Given the description of an element on the screen output the (x, y) to click on. 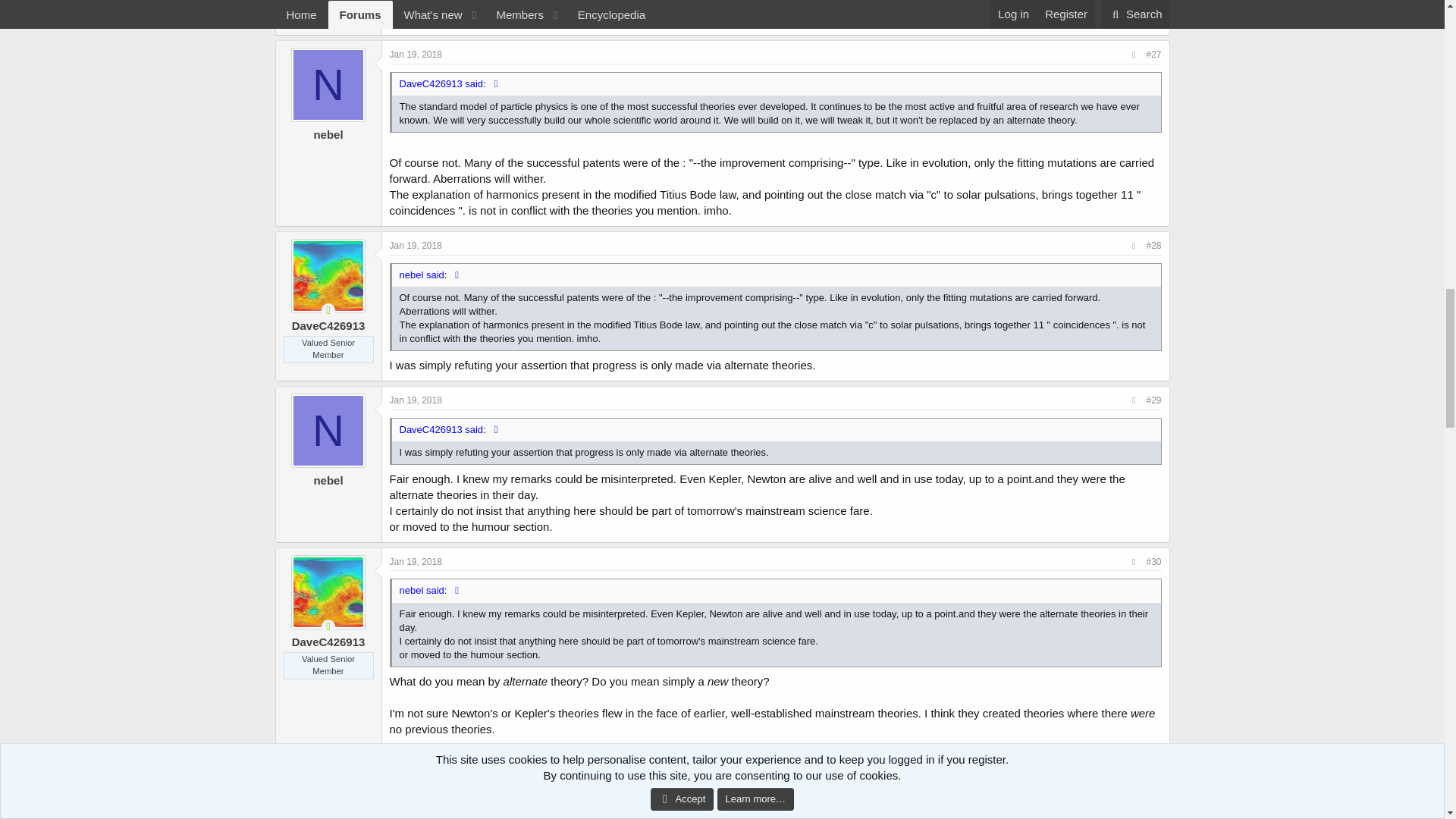
Jan 19, 2018 at 2:33 AM (416, 399)
Jan 19, 2018 at 1:51 AM (416, 54)
Jan 19, 2018 at 2:38 AM (416, 561)
Jan 19, 2018 at 2:06 AM (416, 245)
